Given the description of an element on the screen output the (x, y) to click on. 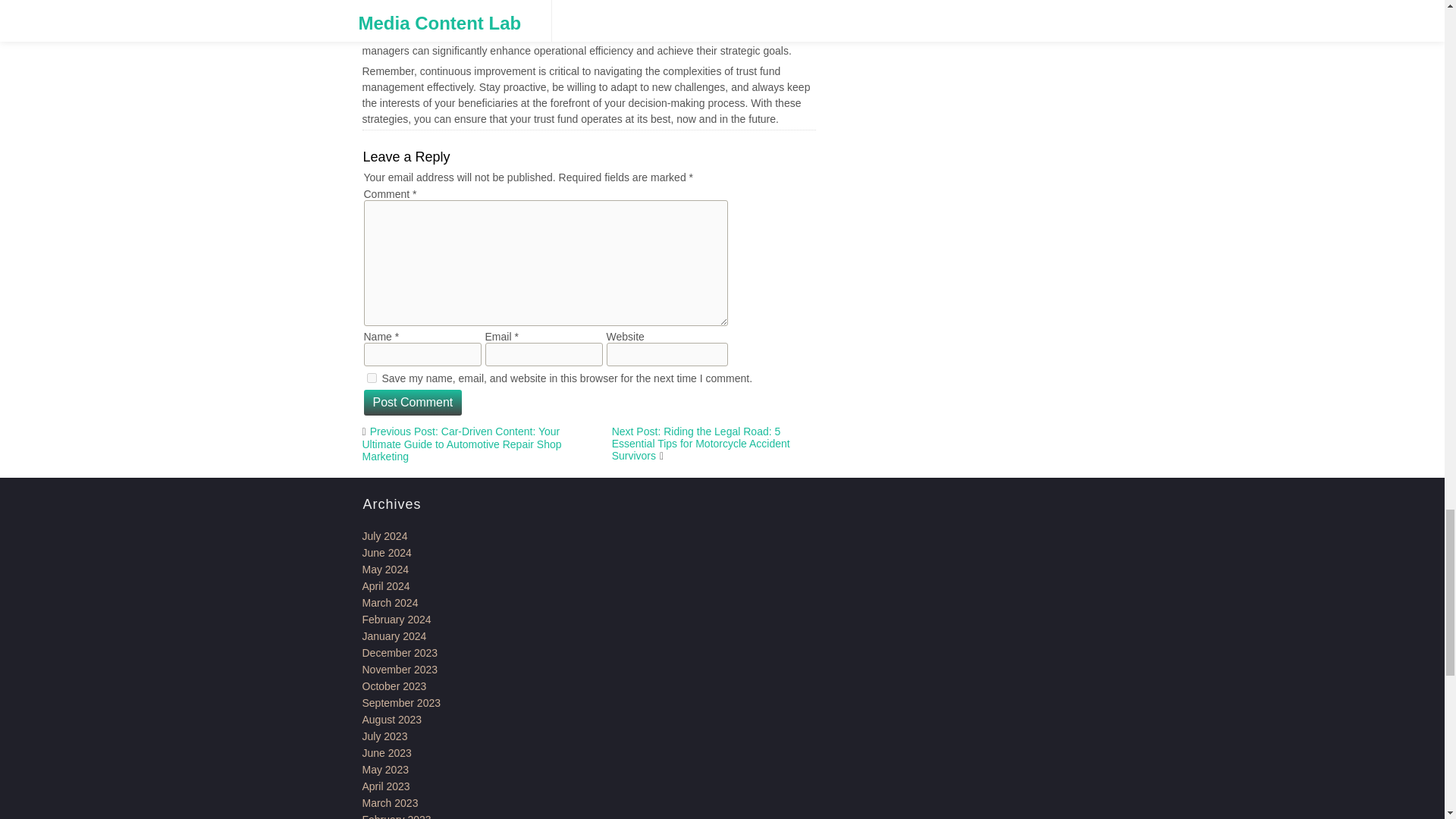
June 2023 (387, 752)
March 2024 (390, 603)
May 2023 (385, 769)
December 2023 (400, 653)
November 2023 (400, 669)
July 2024 (384, 535)
Post Comment (413, 402)
January 2024 (394, 635)
yes (371, 378)
June 2024 (387, 552)
April 2023 (386, 786)
August 2023 (392, 719)
February 2023 (396, 816)
April 2024 (386, 585)
